Given the description of an element on the screen output the (x, y) to click on. 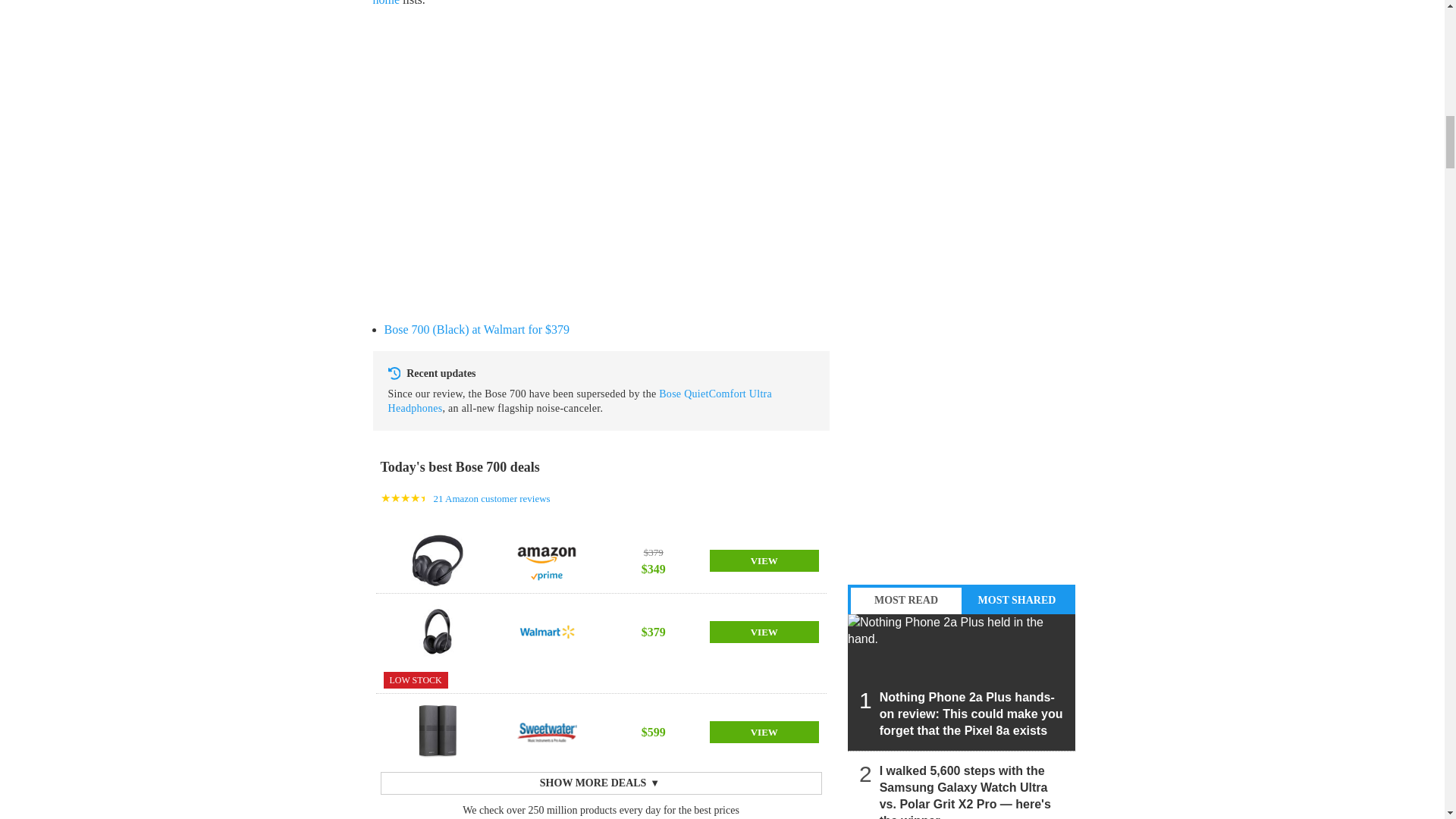
Amazon (546, 552)
Sweetwater Sound (546, 731)
Bose Noise Cancelling... (437, 631)
Bose Headphones 700, Noise... (437, 560)
Walmart (546, 631)
Prime (546, 575)
Low Stock (416, 679)
Bose Surround Speakers 700 -... (437, 731)
